Given the description of an element on the screen output the (x, y) to click on. 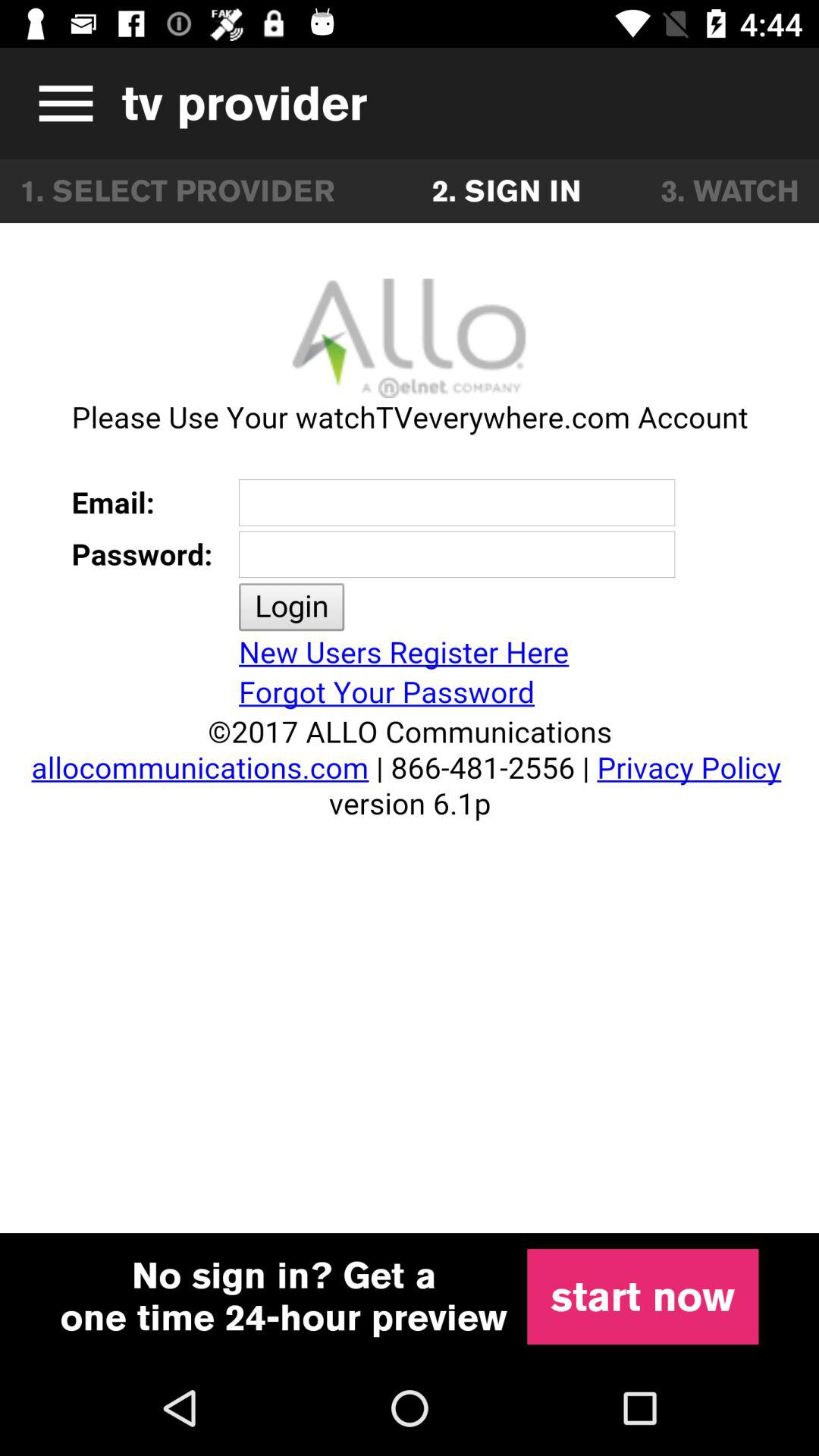
expand menu (60, 103)
